Given the description of an element on the screen output the (x, y) to click on. 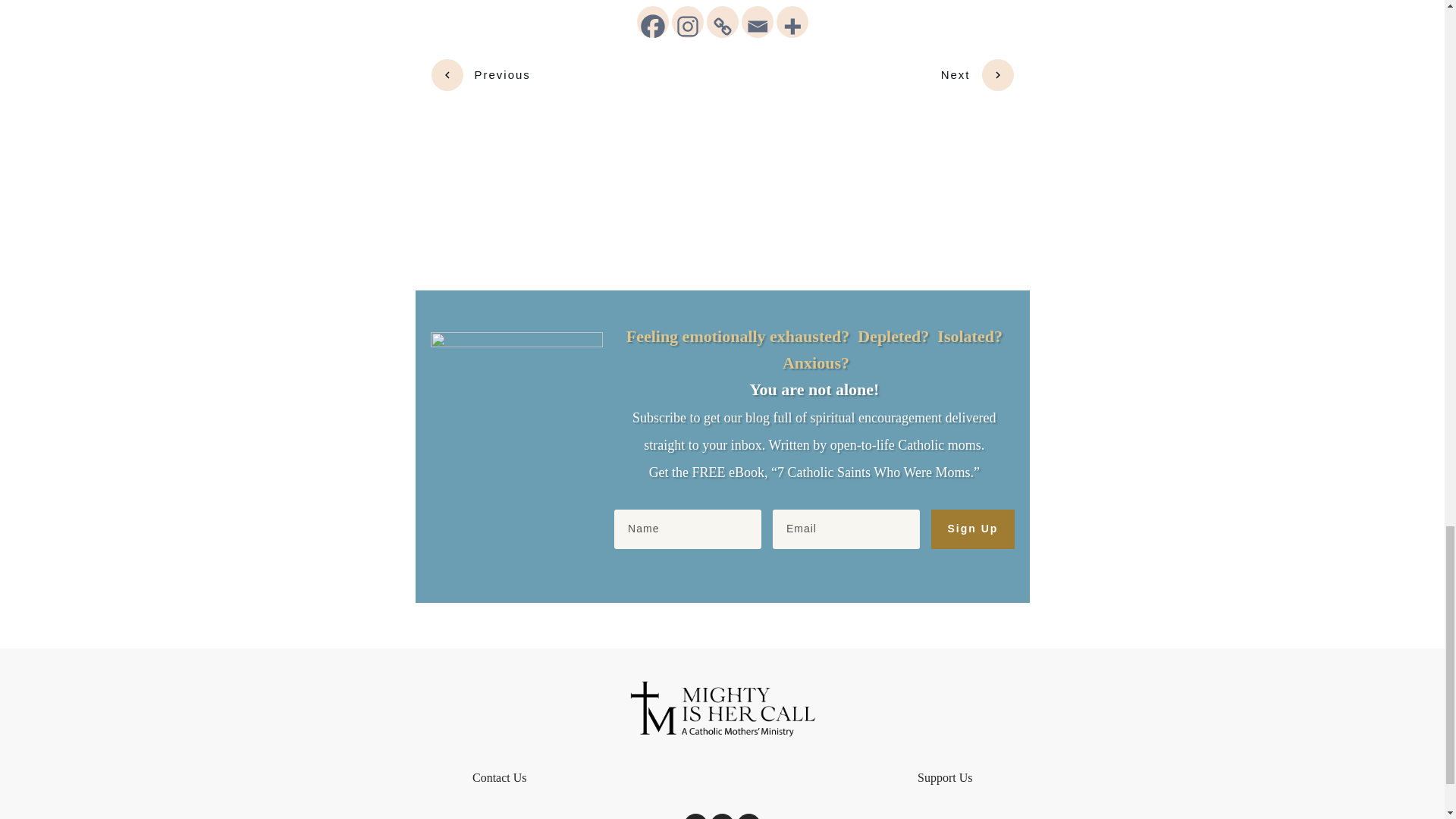
Facebook (652, 21)
Sign Up (972, 528)
Email (757, 21)
Previous (479, 74)
Instagram (687, 21)
Next (976, 74)
Copy Link (722, 21)
Contact Us (499, 777)
Support Us (944, 777)
More (792, 21)
